Given the description of an element on the screen output the (x, y) to click on. 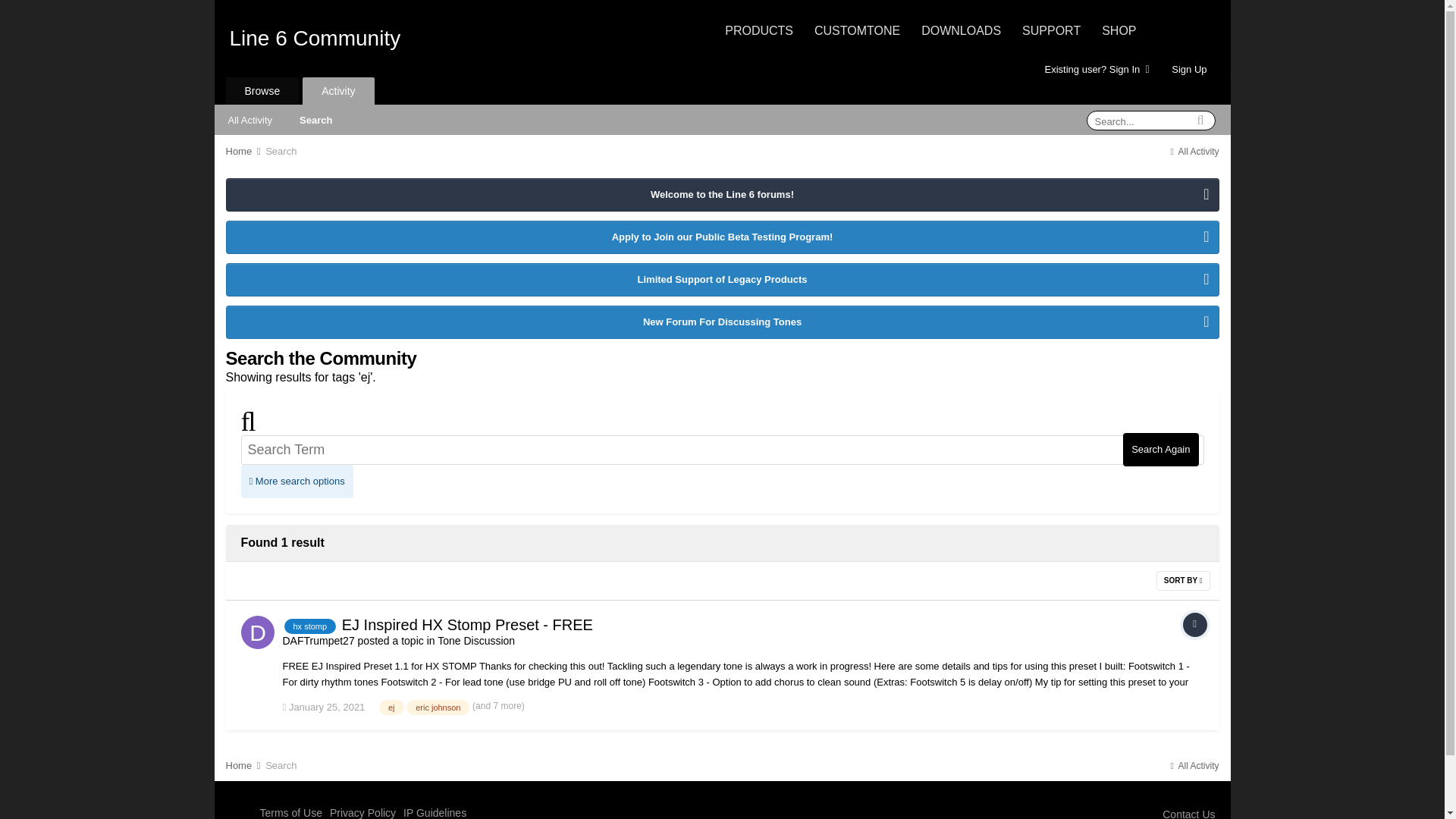
SUPPORT (1051, 30)
PRODUCTS (759, 30)
Find other content tagged with 'ej' (391, 707)
Search (315, 118)
Store (1118, 30)
Products (759, 30)
Support (1051, 30)
Search (280, 151)
Line 6 Community (314, 37)
Downloads (961, 30)
